Given the description of an element on the screen output the (x, y) to click on. 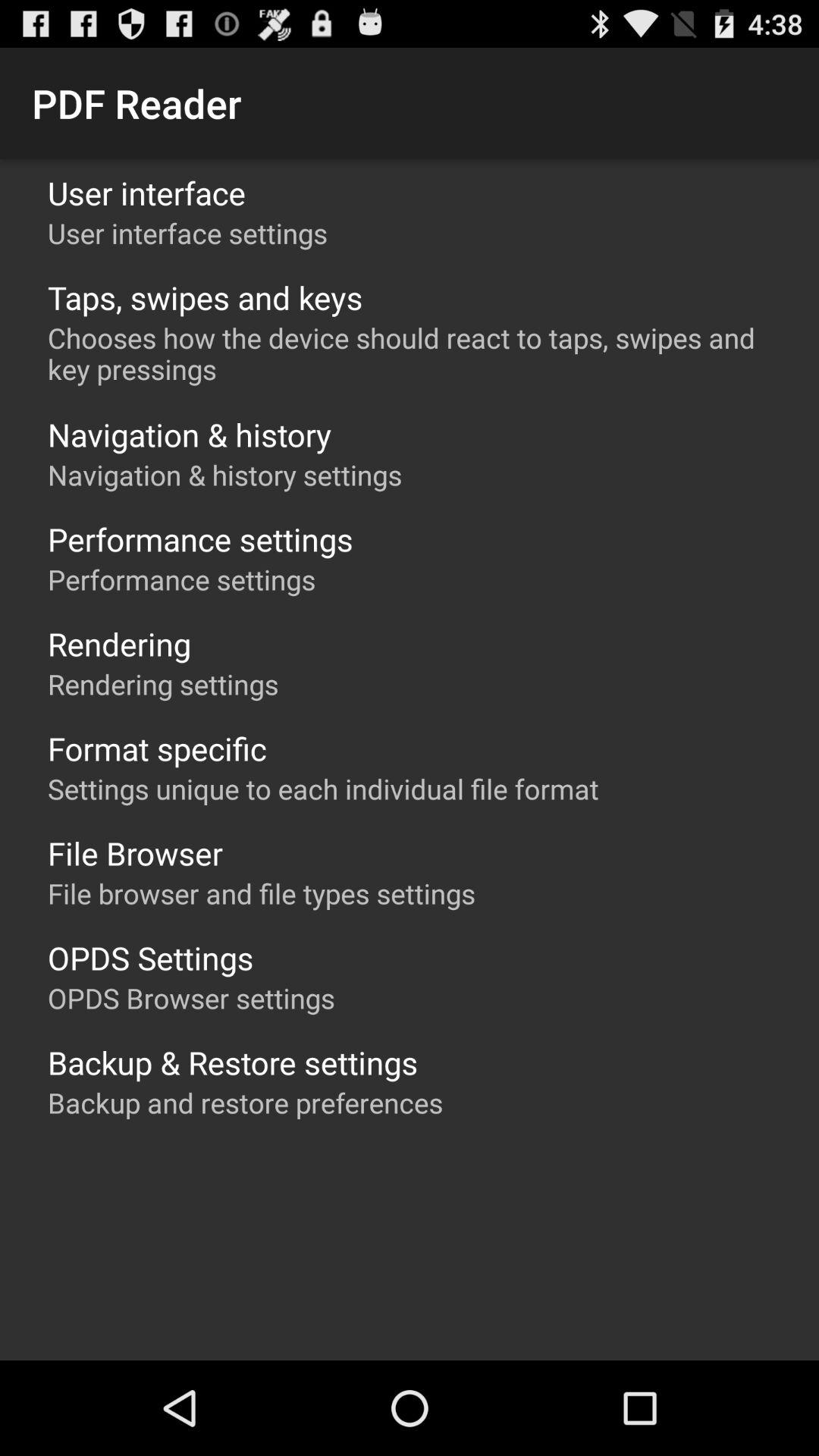
jump until rendering settings item (162, 683)
